Given the description of an element on the screen output the (x, y) to click on. 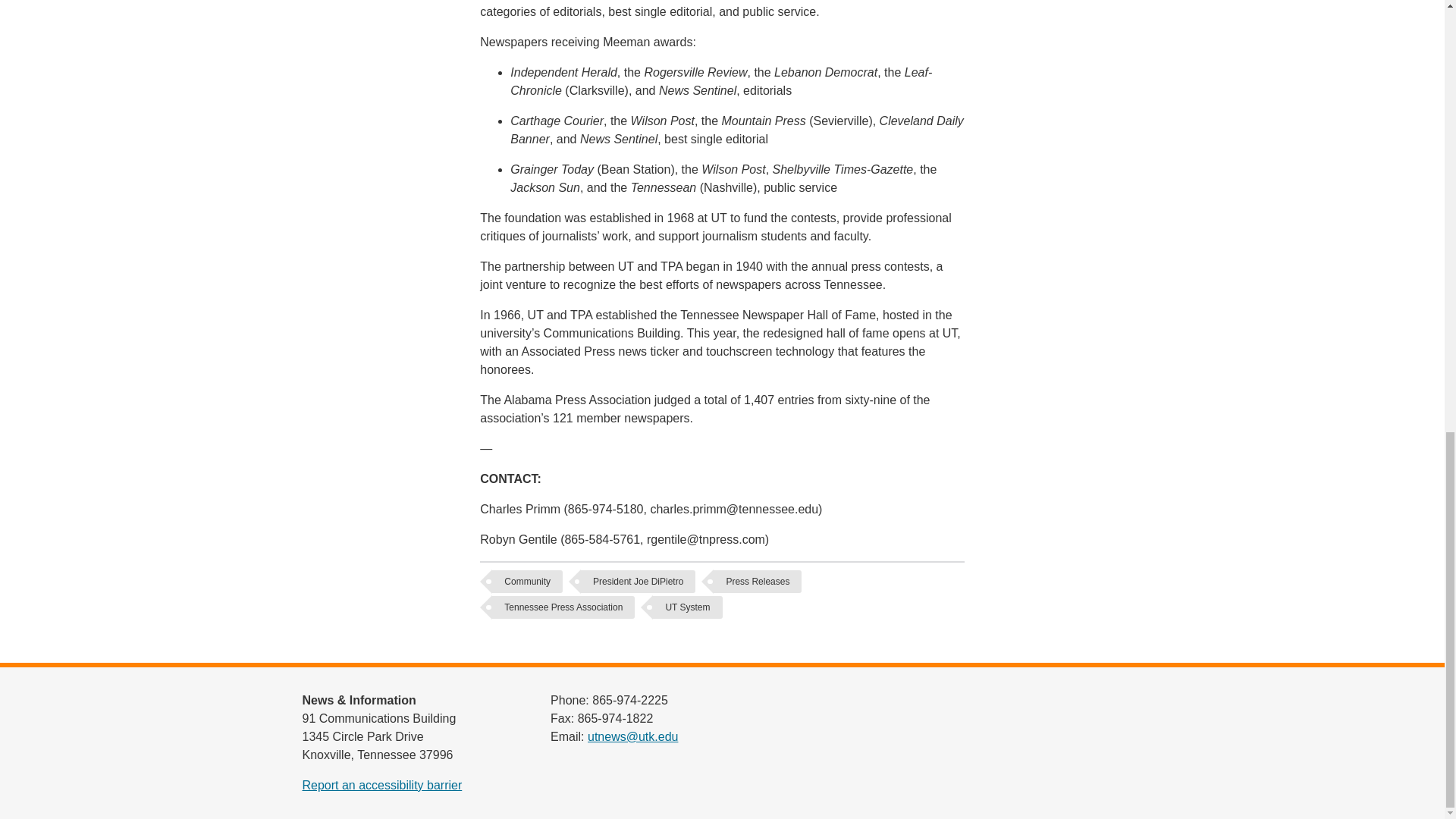
Community (527, 581)
Tennessee Press Association (563, 607)
Report an accessibility barrier (381, 784)
UT System (687, 607)
President Joe DiPietro (637, 581)
Press Releases (757, 581)
